Given the description of an element on the screen output the (x, y) to click on. 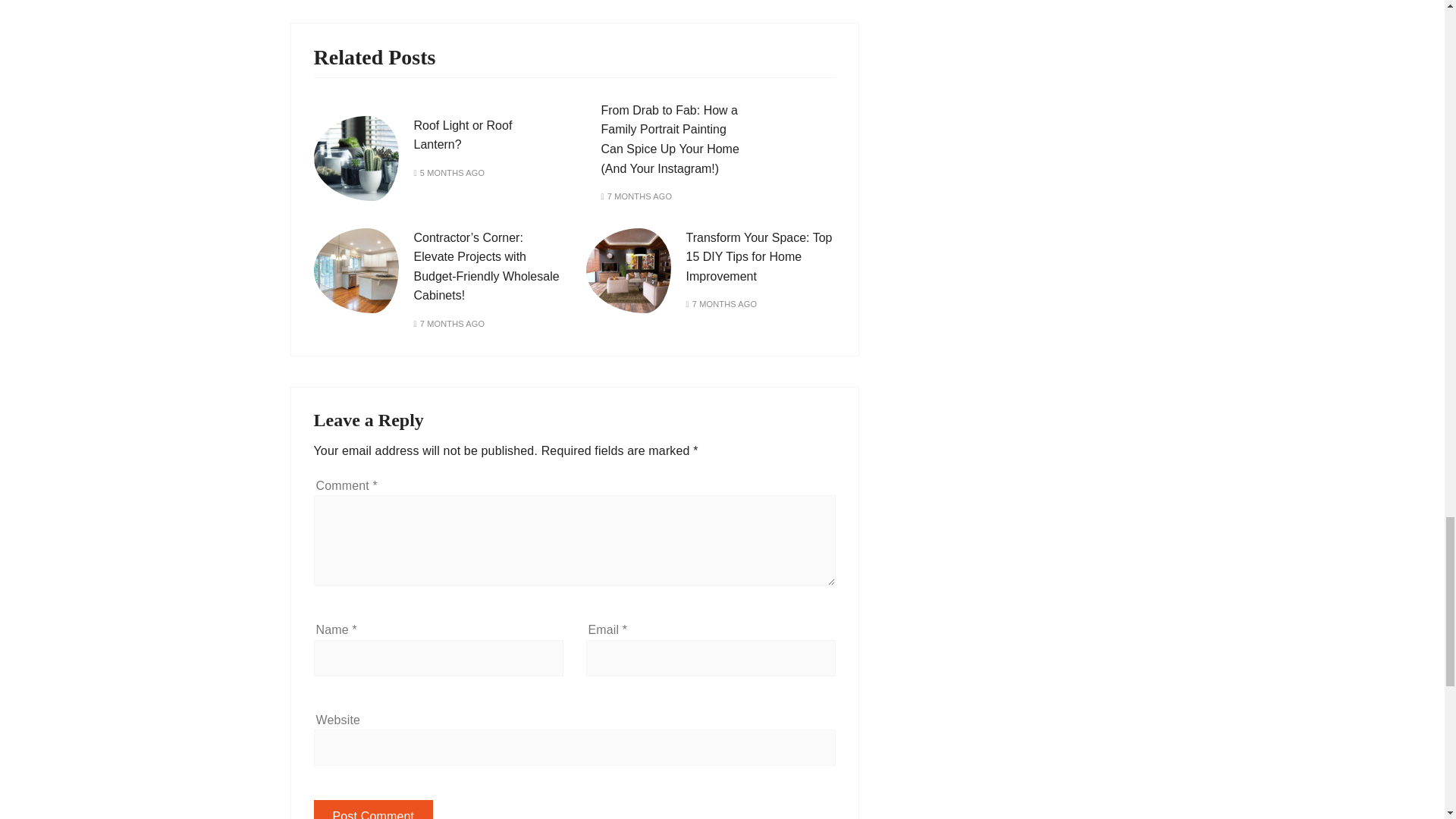
Roof Light or Roof Lantern? (462, 134)
Post Comment (373, 809)
Post Comment (373, 809)
Transform Your Space: Top 15 DIY Tips for Home Improvement (758, 256)
